Given the description of an element on the screen output the (x, y) to click on. 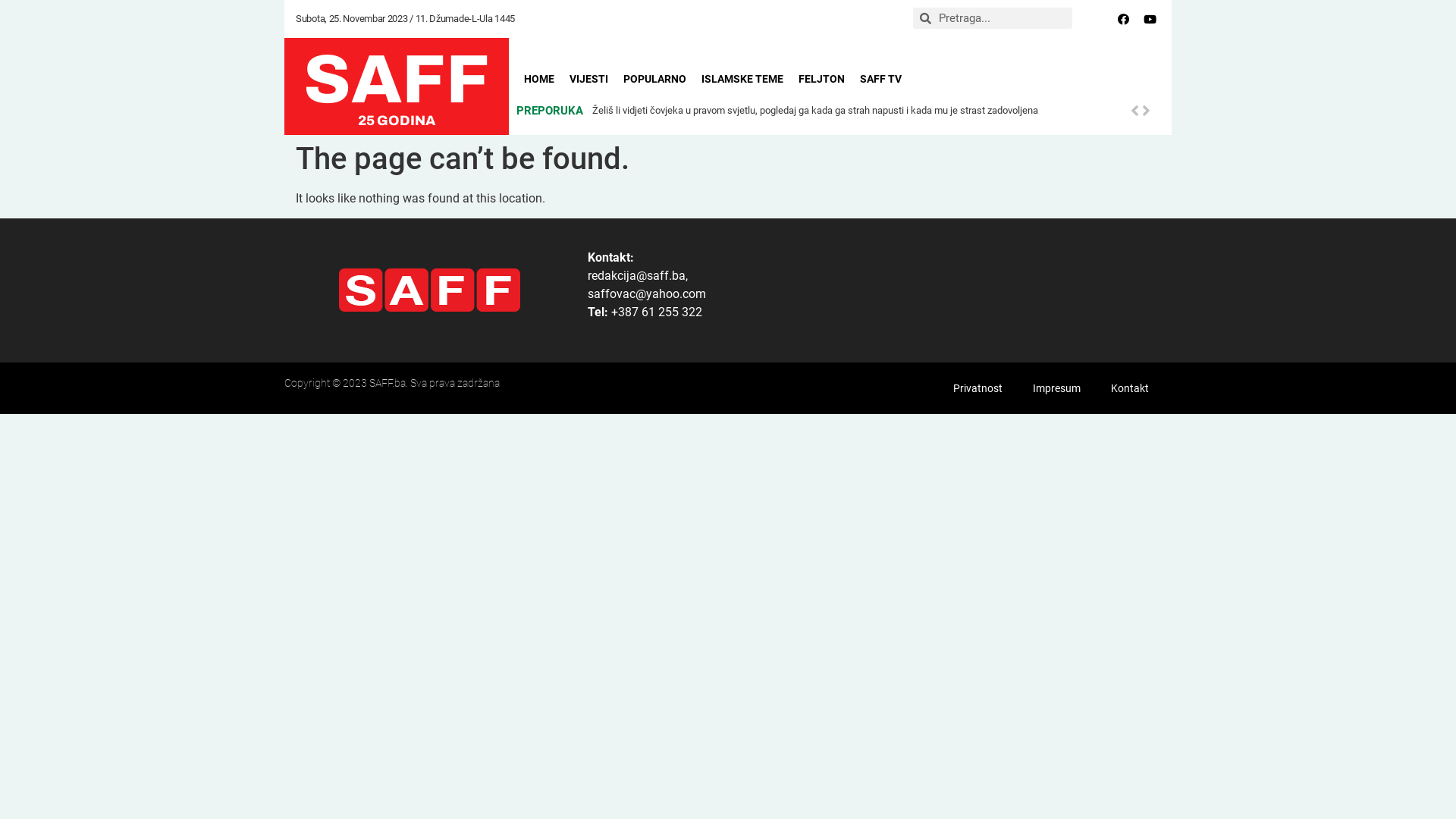
Kontakt Element type: text (1129, 387)
VIJESTI Element type: text (588, 78)
SAFF Element type: text (396, 79)
FELJTON Element type: text (821, 78)
Privatnost Element type: text (977, 387)
Impresum Element type: text (1056, 387)
HOME Element type: text (538, 78)
25 GODINA Element type: text (396, 120)
POPULARNO Element type: text (654, 78)
SAFF TV Element type: text (880, 78)
ISLAMSKE TEME Element type: text (741, 78)
